Given the description of an element on the screen output the (x, y) to click on. 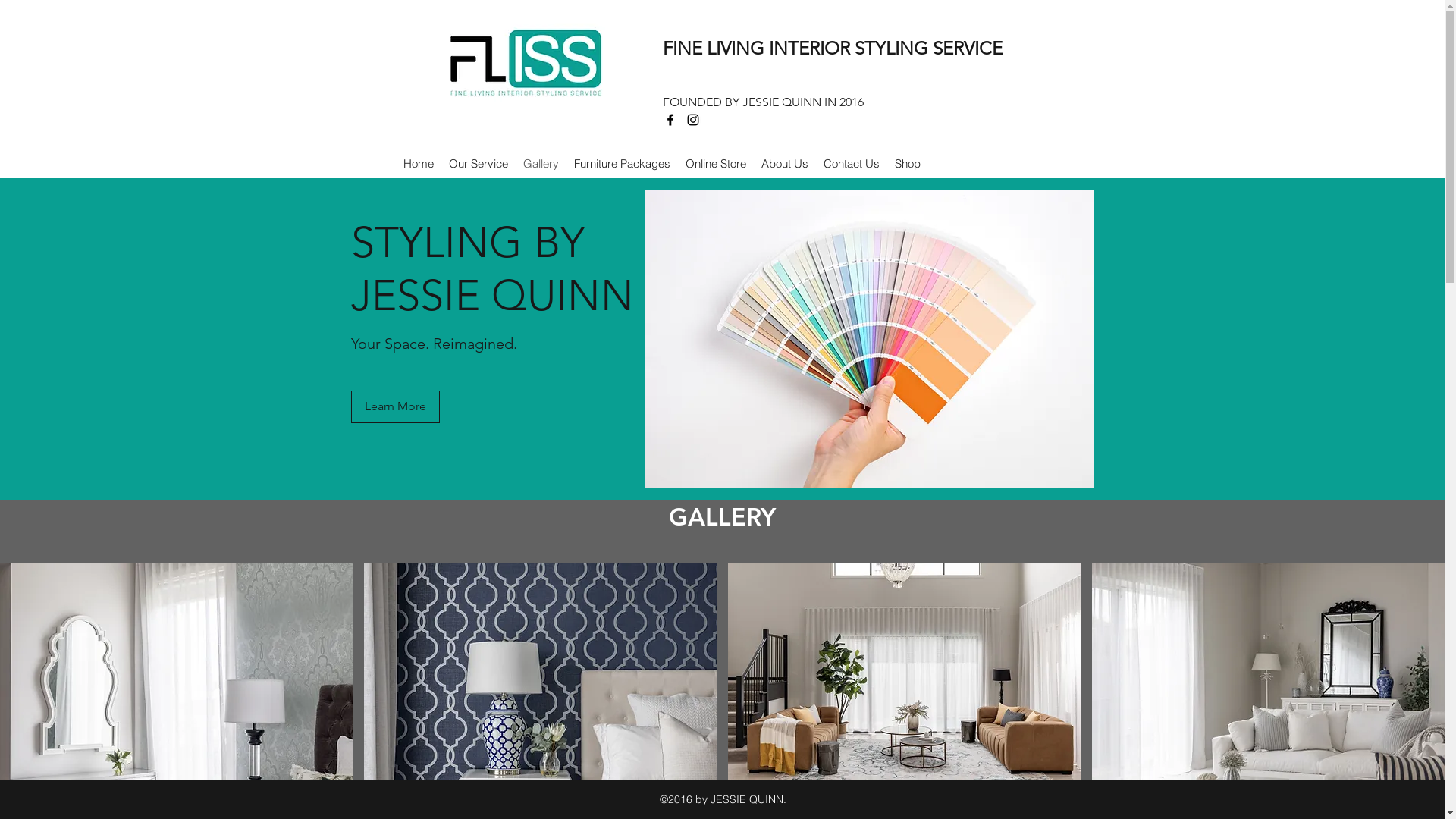
Gallery Element type: text (540, 163)
Contact Us Element type: text (851, 163)
Shop Element type: text (907, 163)
Furniture Packages Element type: text (621, 163)
Our Service Element type: text (478, 163)
Online Store Element type: text (715, 163)
Home Element type: text (418, 163)
About Us Element type: text (784, 163)
